Given the description of an element on the screen output the (x, y) to click on. 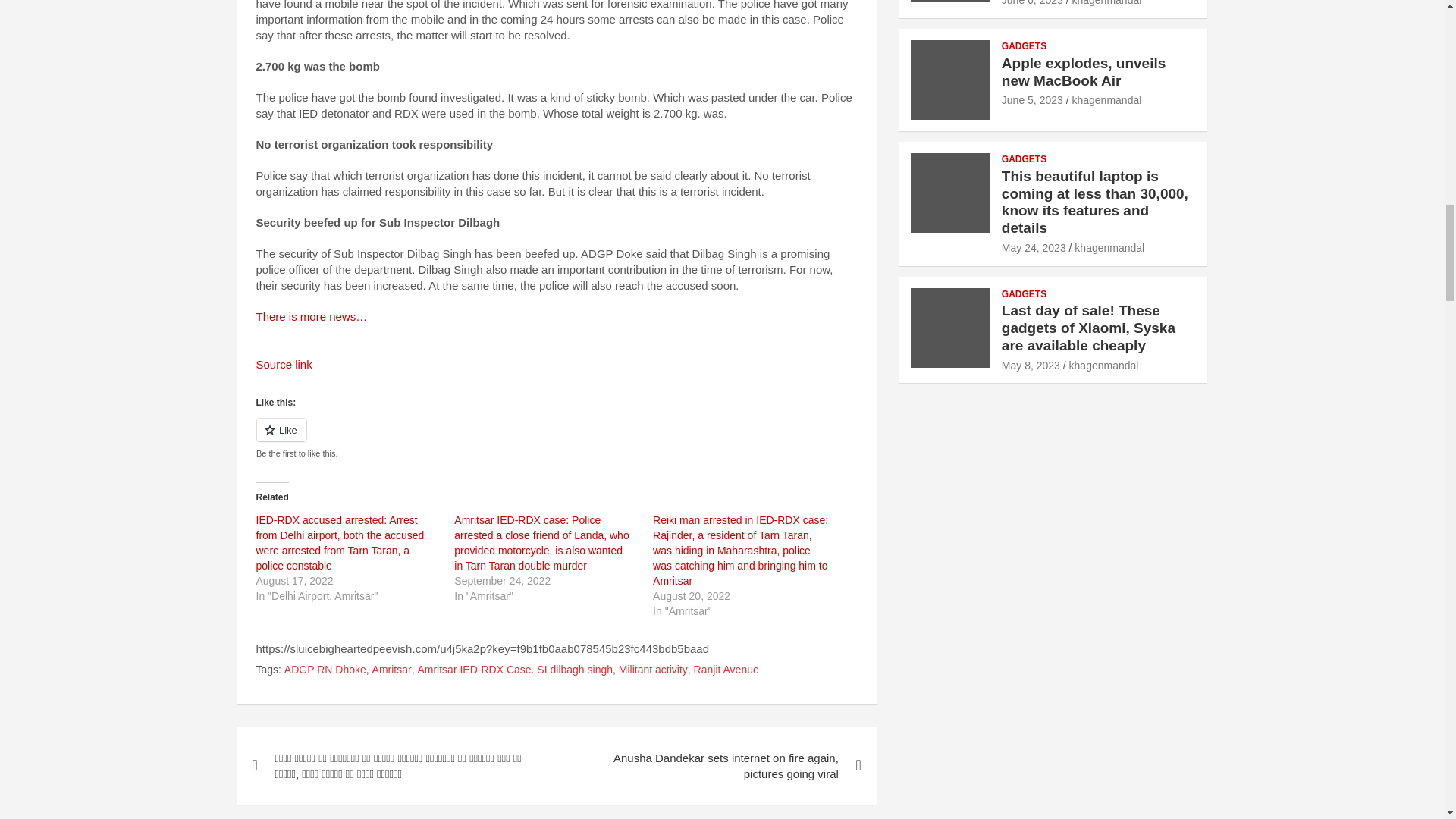
Apple explodes, unveils new MacBook Air (1031, 100)
Like or Reblog (556, 438)
